Given the description of an element on the screen output the (x, y) to click on. 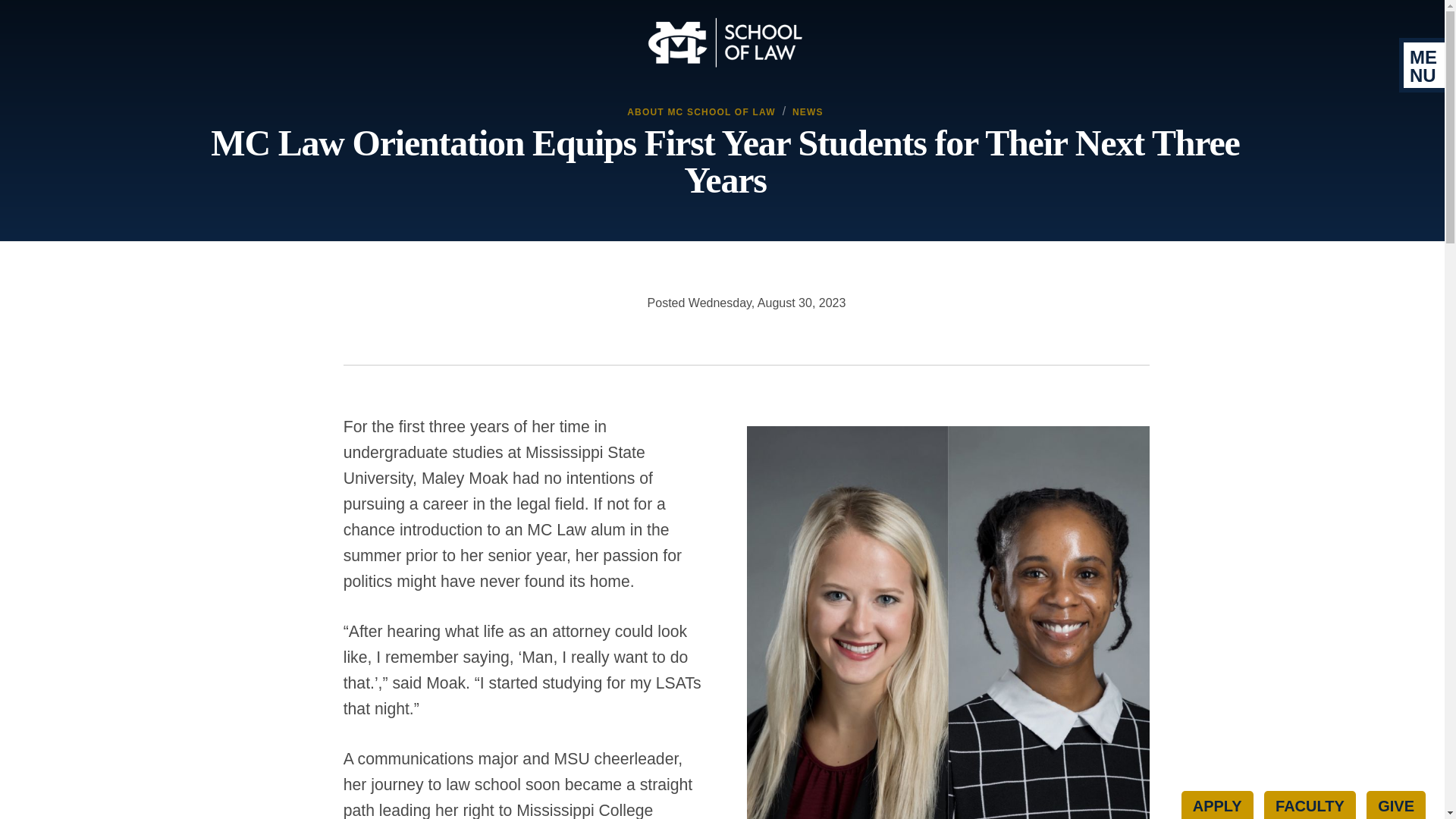
NEWS (808, 112)
APPLY (1216, 805)
GIVE (1396, 805)
FACULTY (1309, 805)
ABOUT MC SCHOOL OF LAW (701, 112)
